Given the description of an element on the screen output the (x, y) to click on. 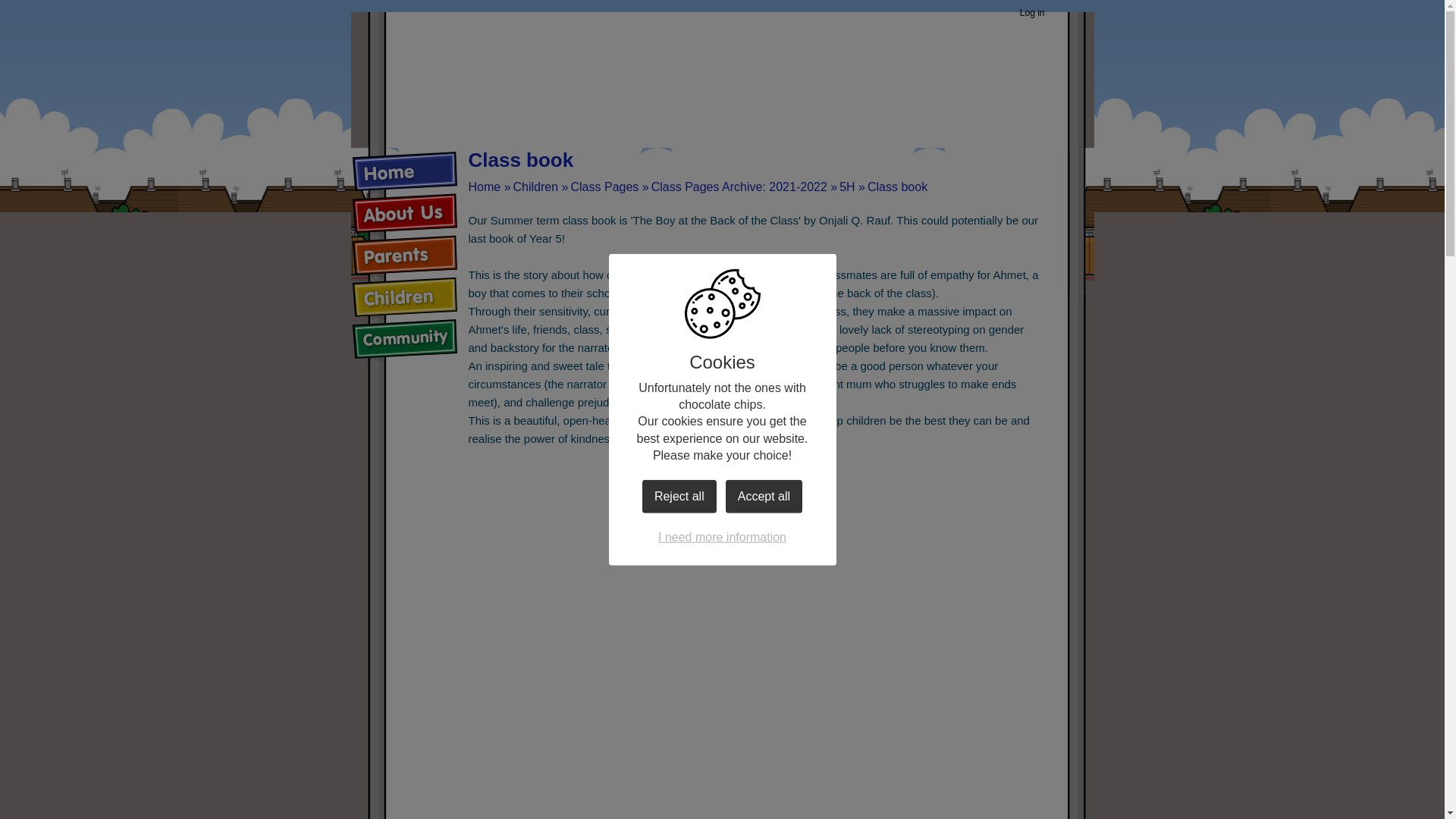
5H (847, 186)
Class book (897, 186)
Home Page (722, 69)
Home (404, 172)
Home (484, 186)
Children (536, 186)
Class Pages Archive: 2021-2022 (738, 186)
Log in (1032, 13)
About Us (404, 214)
Home Page (722, 69)
Class Pages (604, 186)
